Given the description of an element on the screen output the (x, y) to click on. 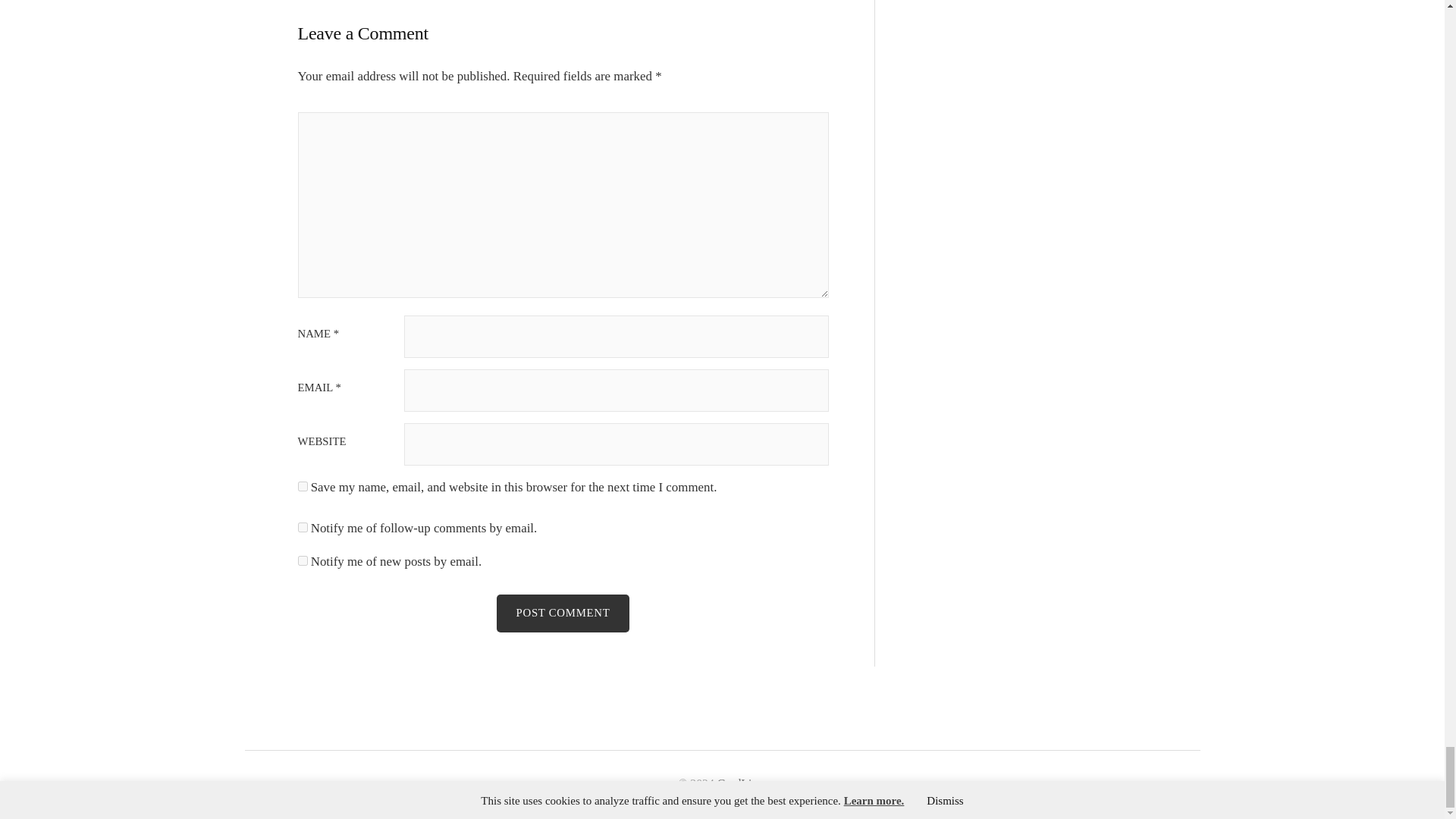
Post Comment (562, 613)
yes (302, 486)
subscribe (302, 560)
subscribe (302, 527)
